Given the description of an element on the screen output the (x, y) to click on. 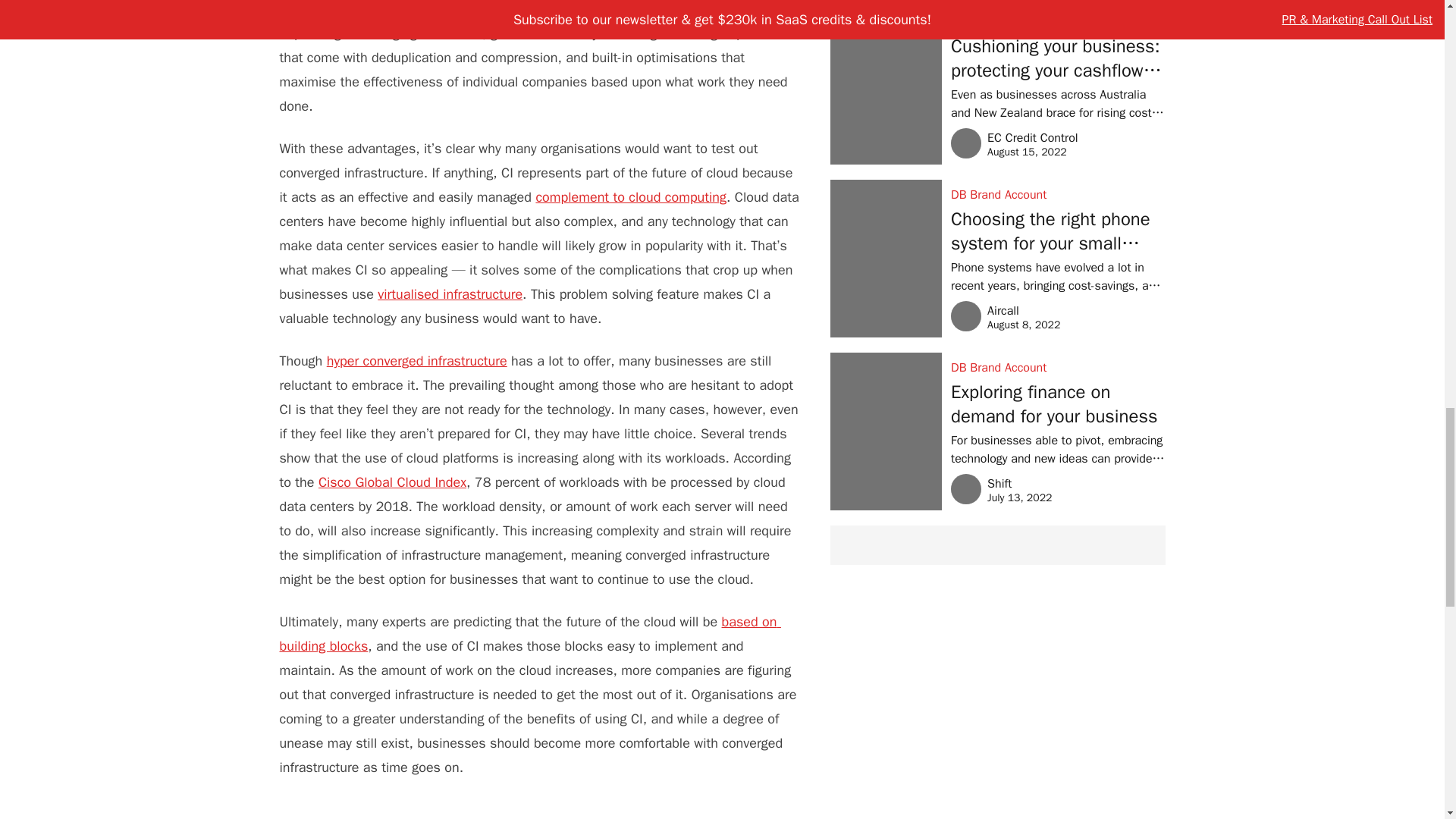
hyper converged infrastructure (416, 360)
virtualised infrastructure (449, 293)
Cisco Global Cloud Index (391, 482)
complement to cloud computing (630, 197)
based on building blocks (529, 633)
